Given the description of an element on the screen output the (x, y) to click on. 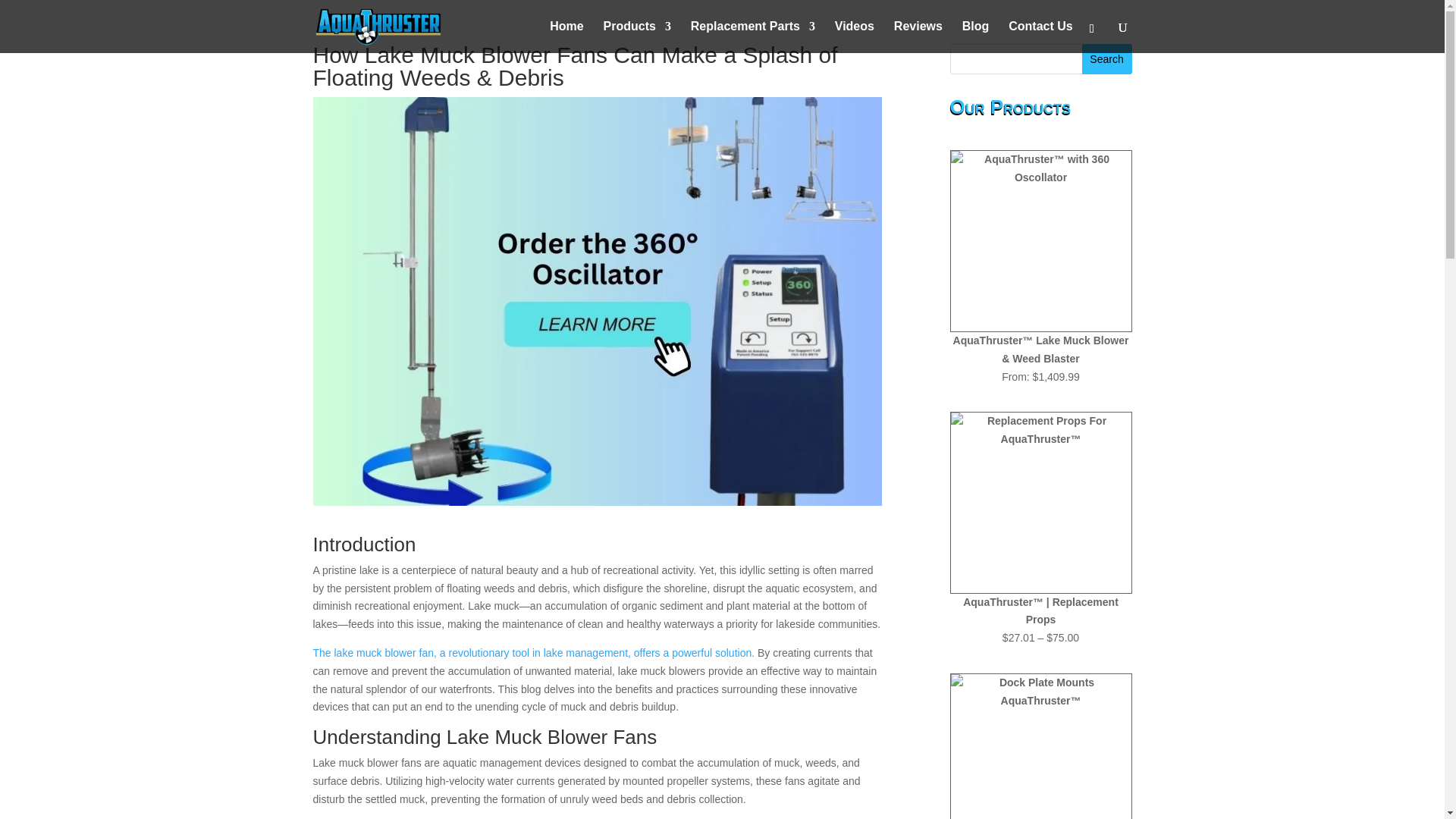
Products (637, 37)
Contact Us (1040, 37)
Home (566, 37)
Search (1106, 59)
Replacement Parts (752, 37)
Videos (854, 37)
Dock Plate Mount (1040, 746)
Search (1106, 59)
Reviews (917, 37)
